Given the description of an element on the screen output the (x, y) to click on. 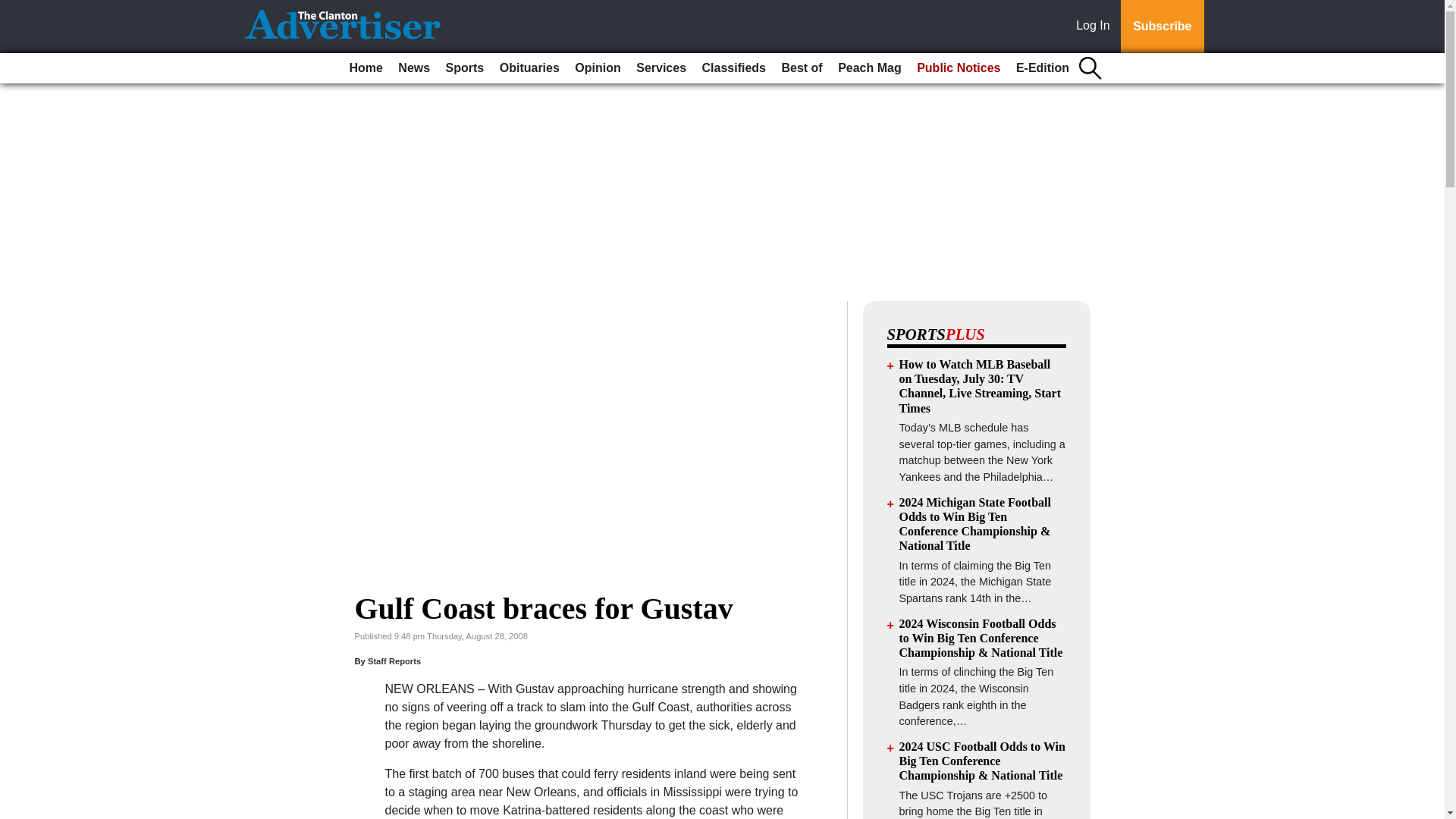
Go (13, 9)
Services (661, 68)
News (413, 68)
Subscribe (1162, 26)
Home (365, 68)
Log In (1095, 26)
Classifieds (733, 68)
Staff Reports (394, 660)
E-Edition (1042, 68)
Opinion (597, 68)
Best of (801, 68)
Obituaries (529, 68)
Peach Mag (869, 68)
Public Notices (958, 68)
